Given the description of an element on the screen output the (x, y) to click on. 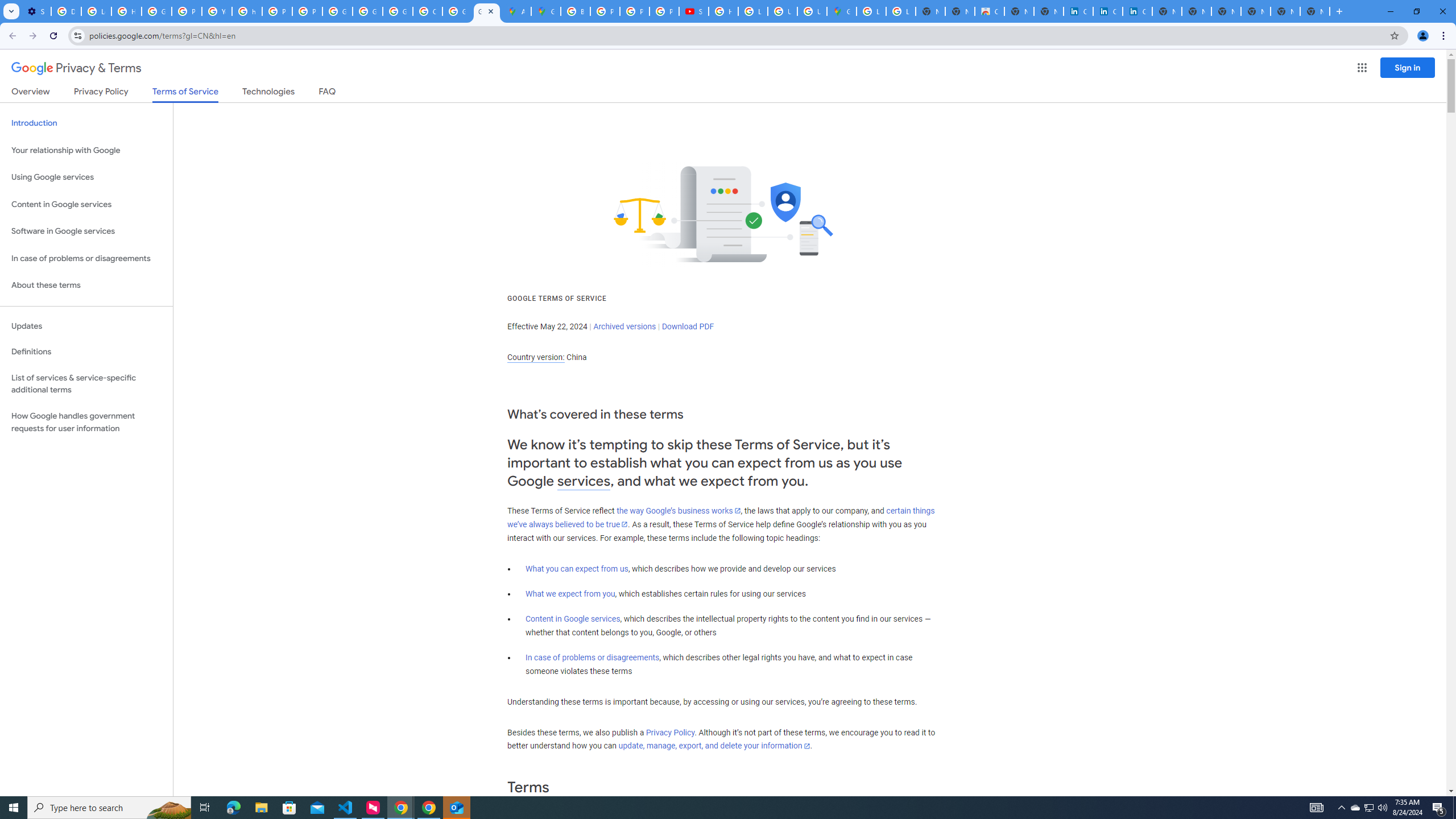
Your relationship with Google (86, 150)
Chrome Web Store (989, 11)
Definitions (86, 352)
Settings - Customize profile (36, 11)
https://scholar.google.com/ (247, 11)
Privacy Help Center - Policies Help (634, 11)
